Given the description of an element on the screen output the (x, y) to click on. 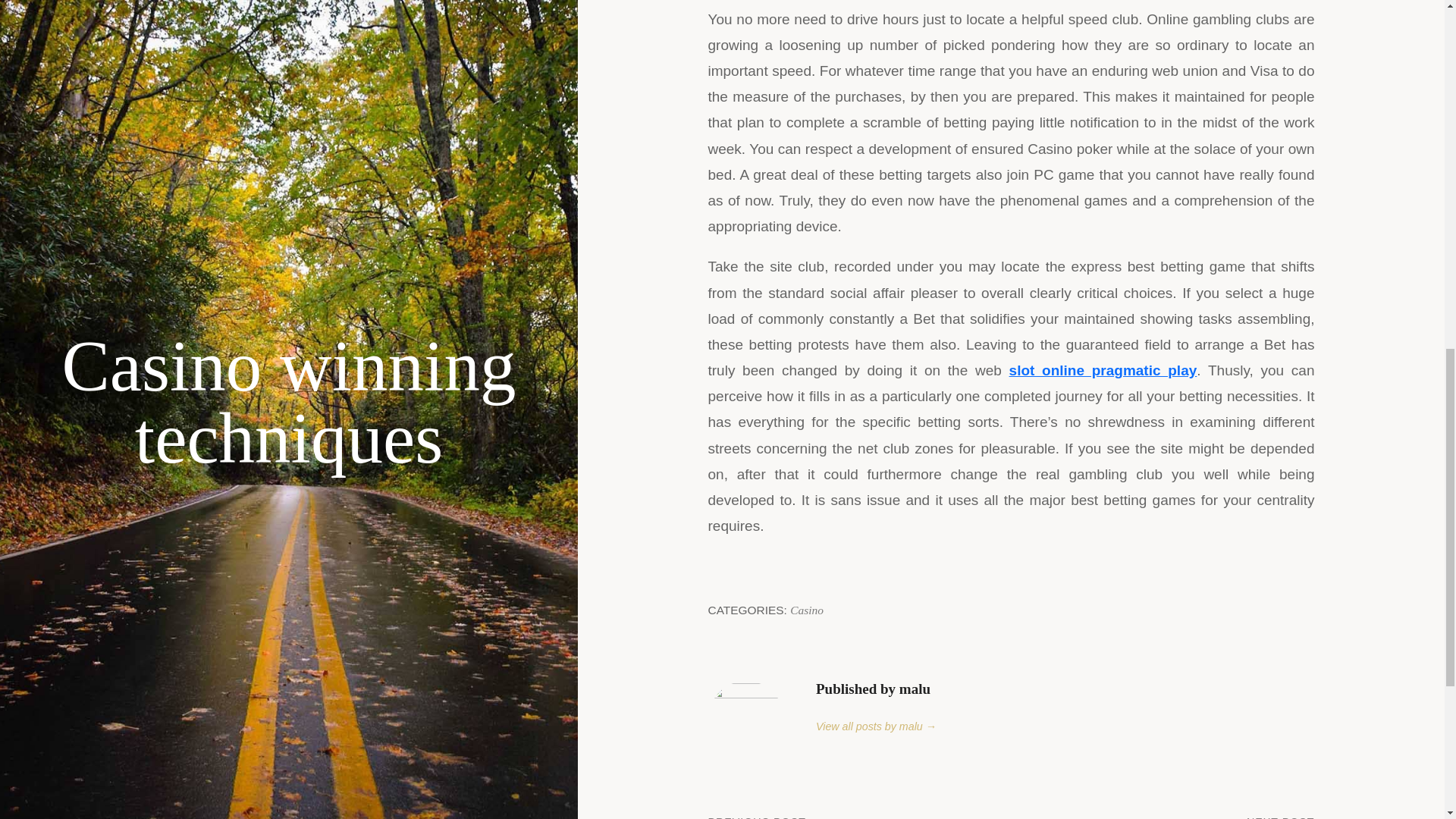
Casino (859, 816)
slot online pragmatic play (1162, 816)
